Given the description of an element on the screen output the (x, y) to click on. 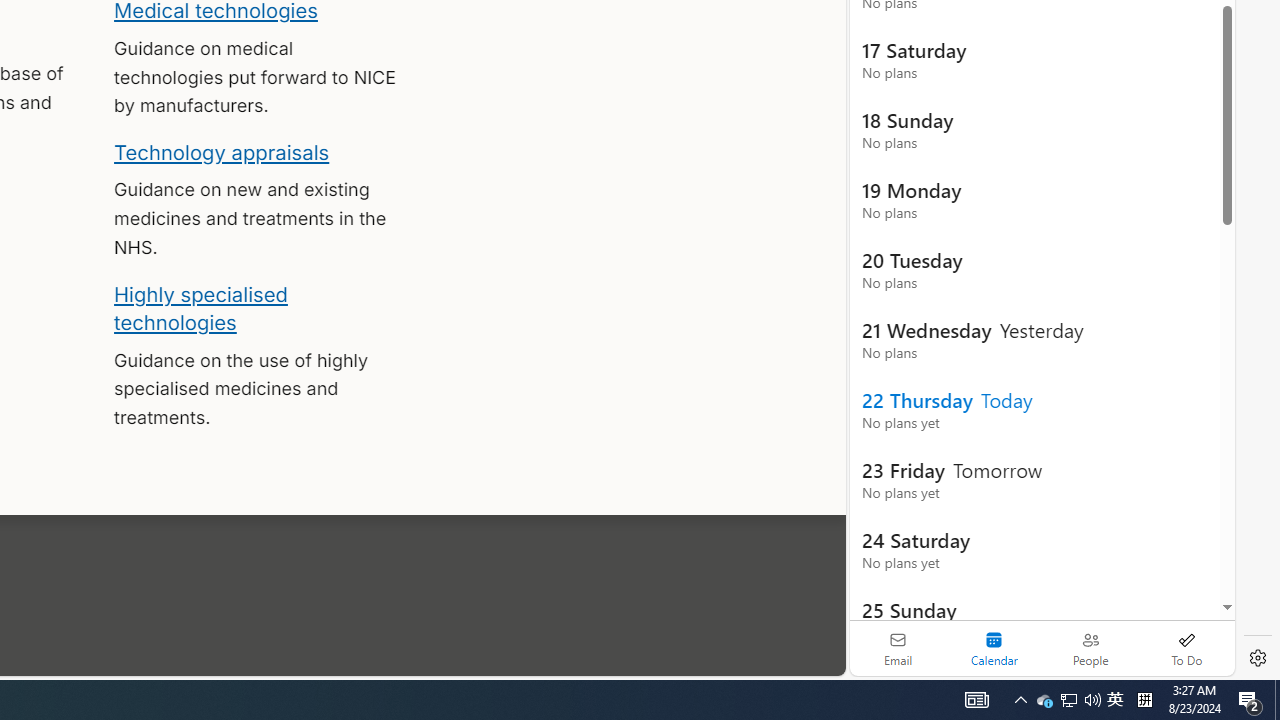
Selected calendar module. Date today is 22 (994, 648)
Highly specialised technologies (200, 308)
Email (898, 648)
People (1090, 648)
To Do (1186, 648)
